Given the description of an element on the screen output the (x, y) to click on. 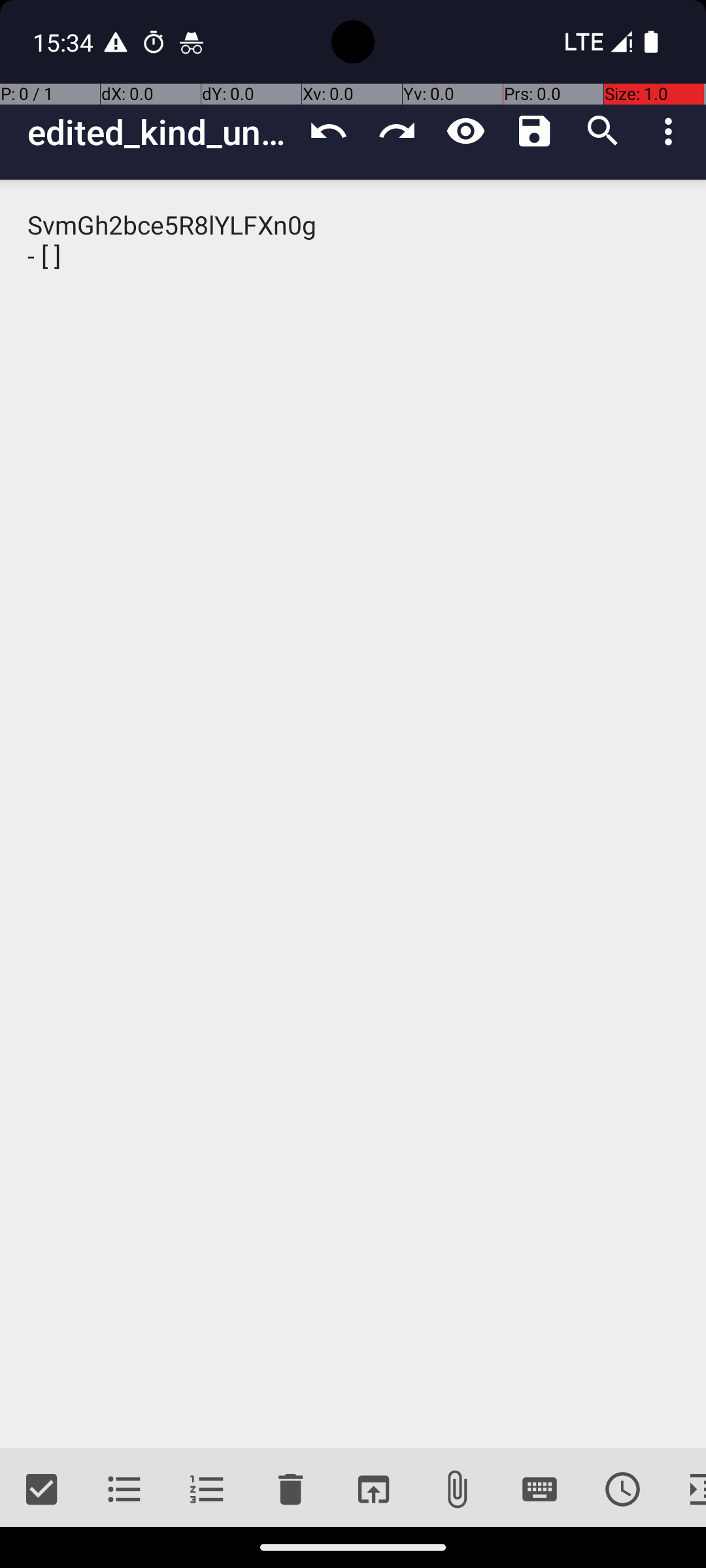
edited_kind_unicorn Element type: android.widget.TextView (160, 131)
SvmGh2bce5R8lYLFXn0g Element type: android.widget.EditText (353, 813)
Chrome notification: Incognito Tabs Element type: android.widget.ImageView (191, 41)
